Given the description of an element on the screen output the (x, y) to click on. 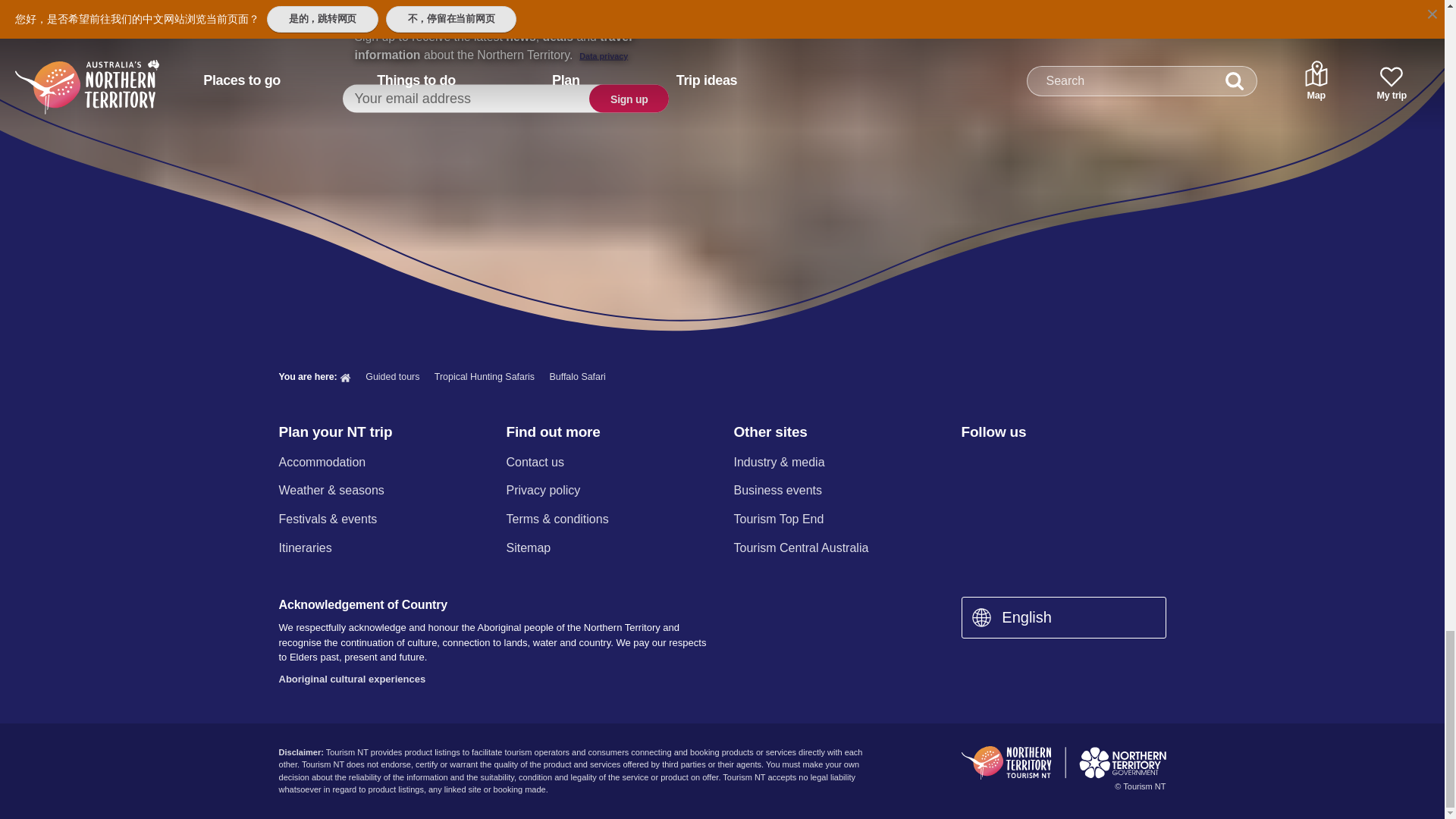
Facebook (970, 463)
Twitter (1050, 463)
Instagram (1009, 463)
YouTube (1089, 463)
Trip Advisor (1129, 463)
